Given the description of an element on the screen output the (x, y) to click on. 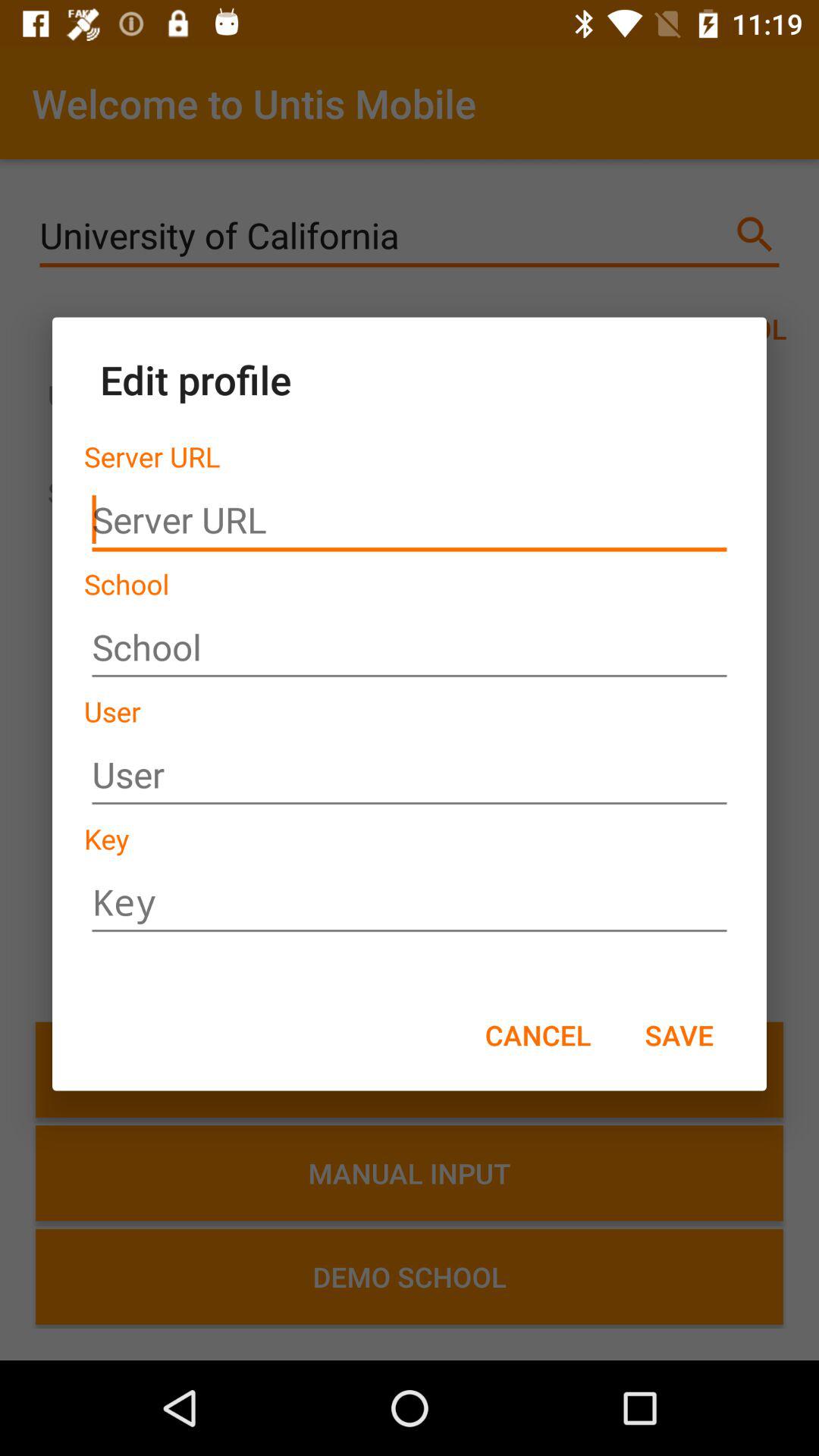
enter text in the field (409, 775)
